Given the description of an element on the screen output the (x, y) to click on. 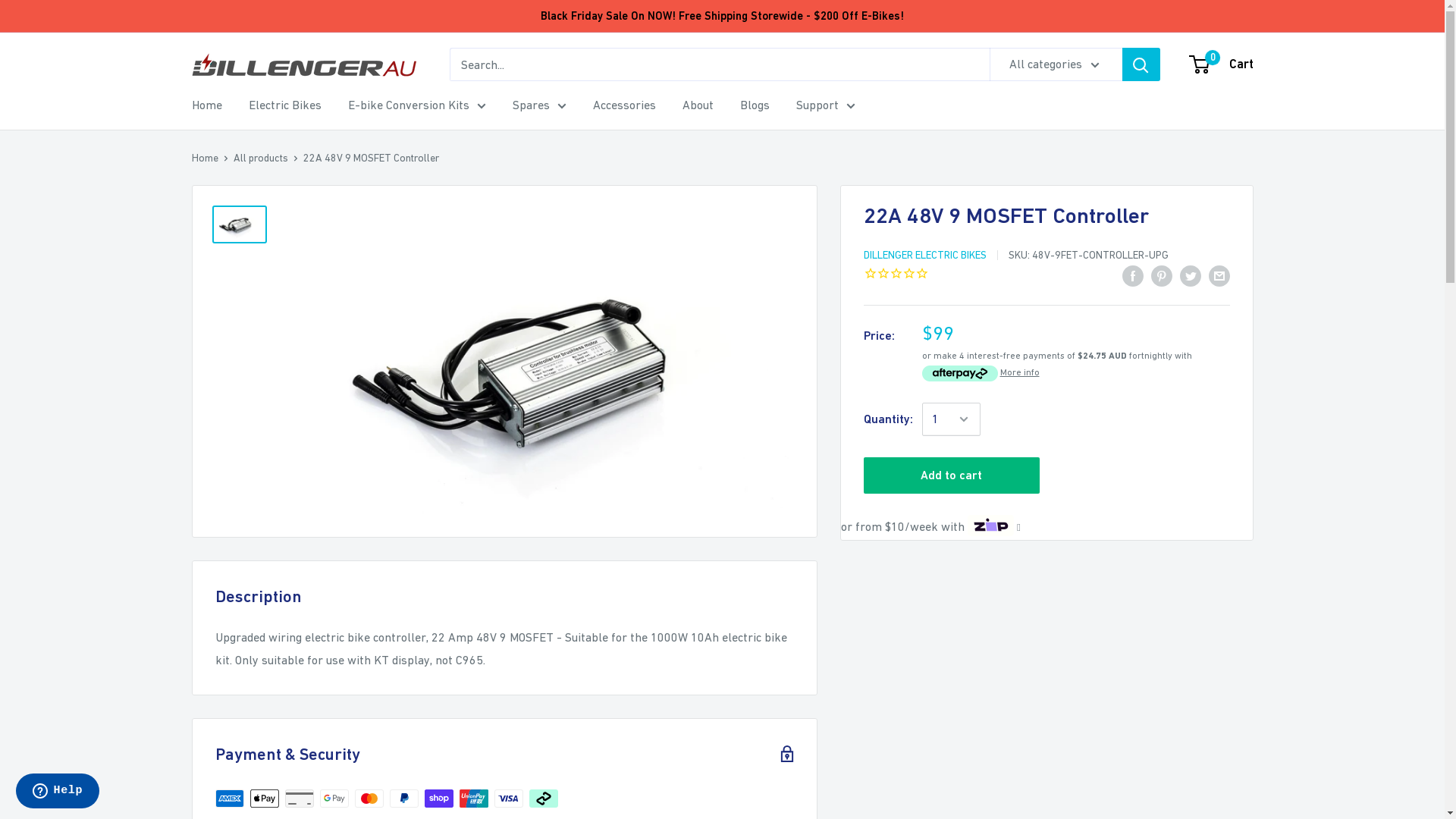
Support Element type: text (825, 105)
E-bike Conversion Kits Element type: text (416, 105)
Electric Bikes Element type: text (284, 105)
DILLENGER ELECTRIC BIKES Element type: text (923, 254)
Opens a widget where you can find more information Element type: hover (57, 792)
0
Cart Element type: text (1221, 64)
More info Element type: text (1018, 372)
All products Element type: text (260, 157)
About Element type: text (697, 105)
Accessories Element type: text (624, 105)
Blogs Element type: text (754, 105)
Home Element type: text (204, 157)
Home Element type: text (206, 105)
Spares Element type: text (539, 105)
Add to cart Element type: text (950, 475)
